Given the description of an element on the screen output the (x, y) to click on. 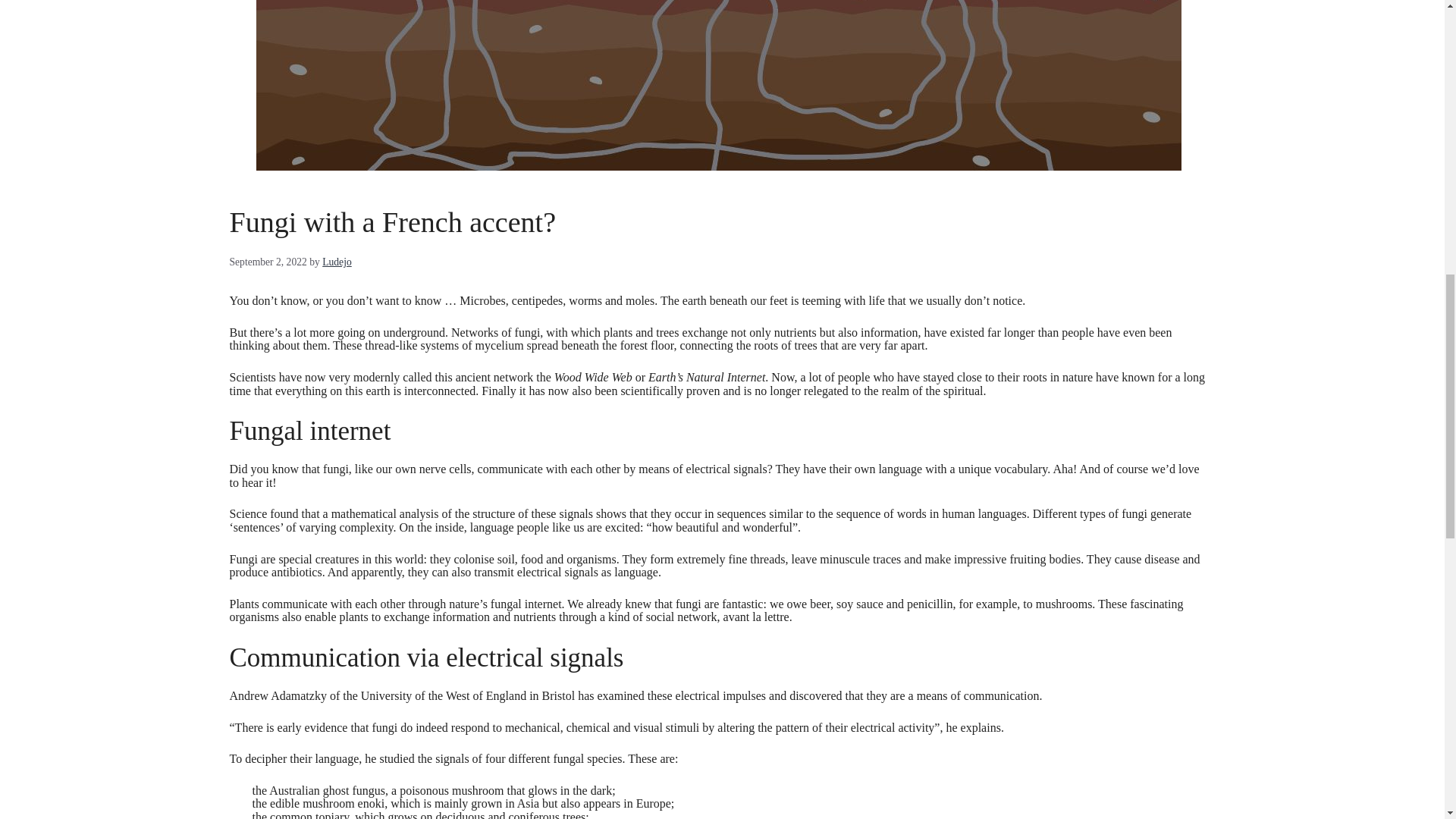
Scroll back to top (1401, 715)
Ludejo (336, 261)
View all posts by Ludejo (336, 261)
